Given the description of an element on the screen output the (x, y) to click on. 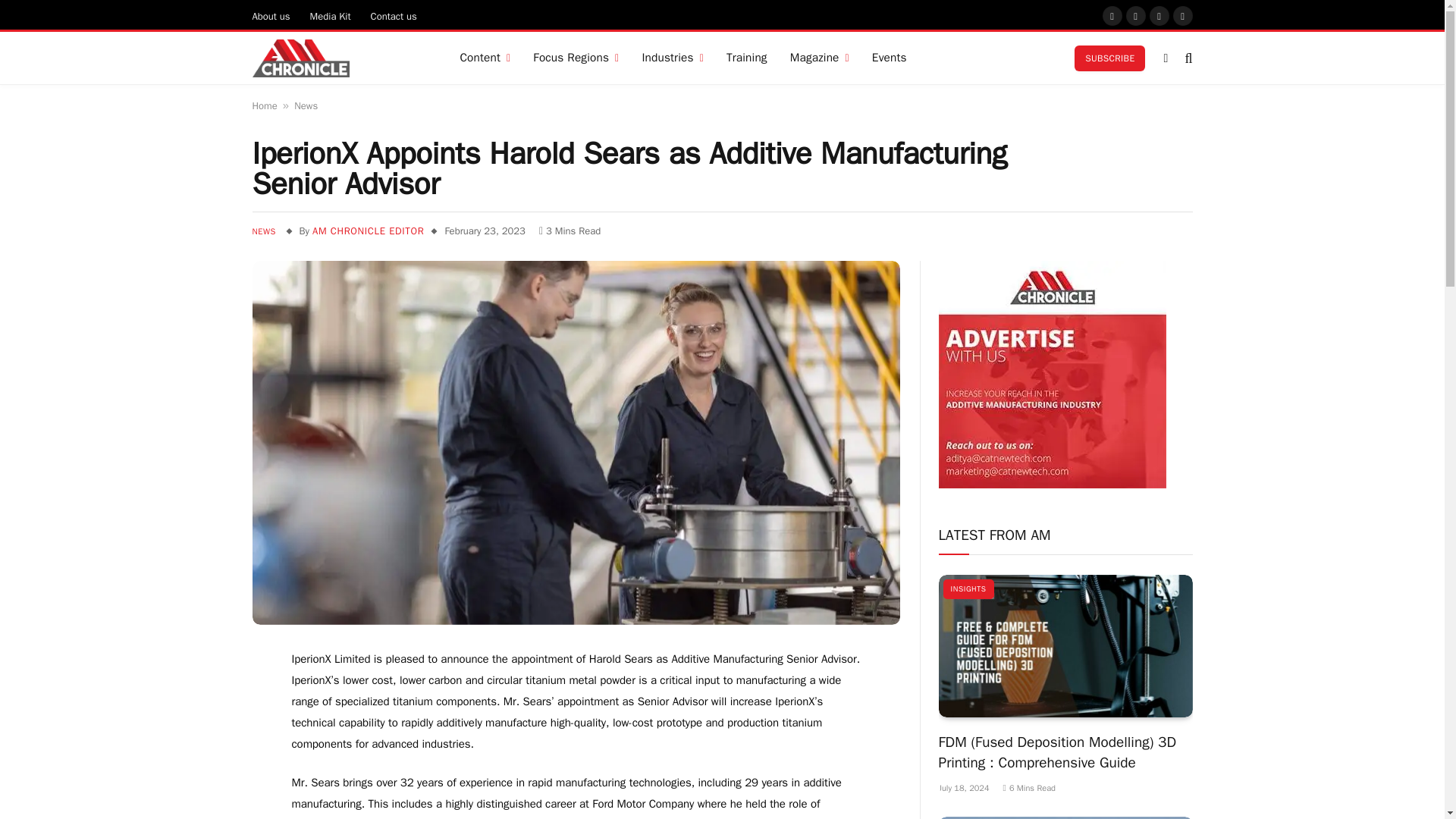
Contact us (393, 15)
Media Kit (330, 15)
Content (484, 57)
Instagram (1135, 15)
Facebook (1112, 15)
About us (271, 15)
AM Chronicle (300, 58)
YouTube (1159, 15)
LinkedIn (1182, 15)
